Given the description of an element on the screen output the (x, y) to click on. 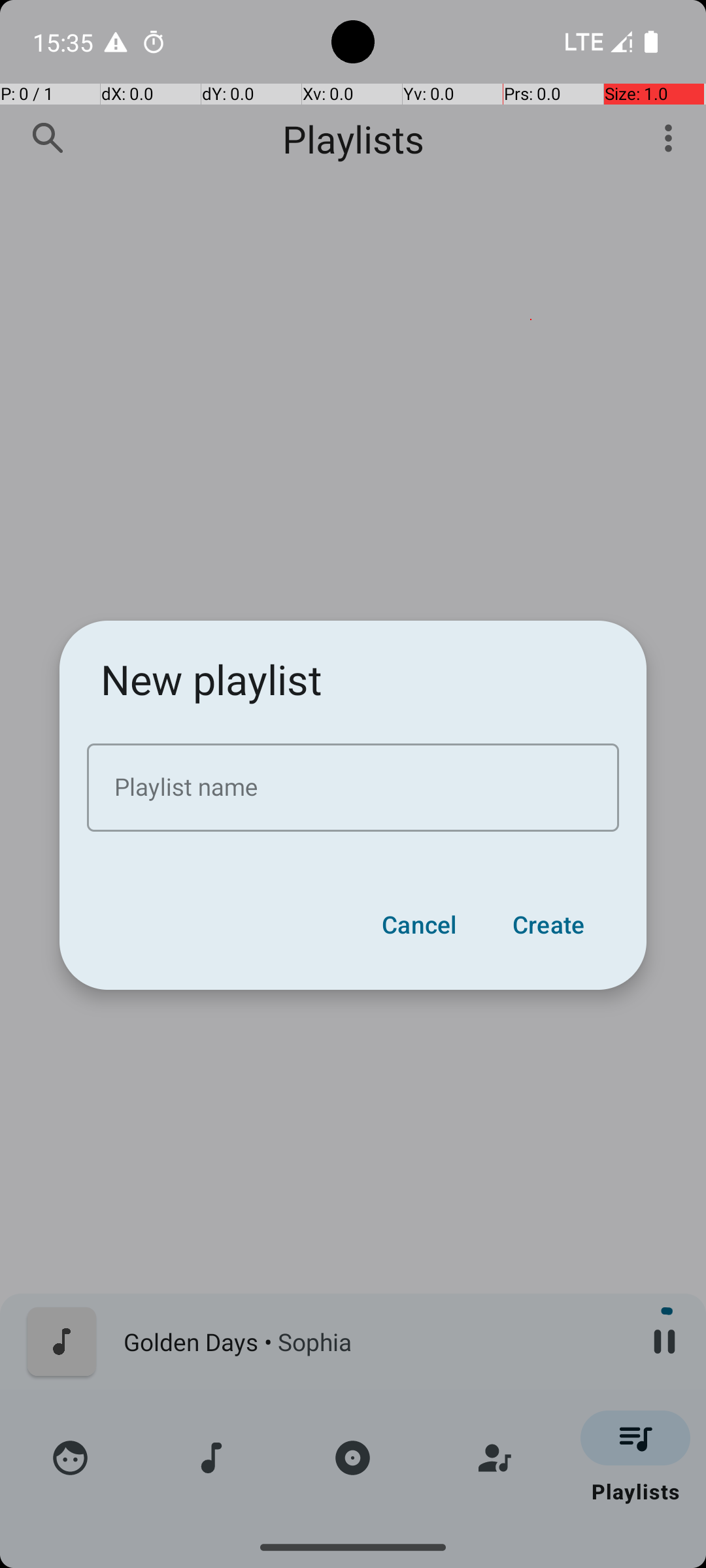
New playlist Element type: android.widget.TextView (211, 678)
Playlist name Element type: android.widget.EditText (352, 787)
Create Element type: android.widget.Button (547, 924)
